Given the description of an element on the screen output the (x, y) to click on. 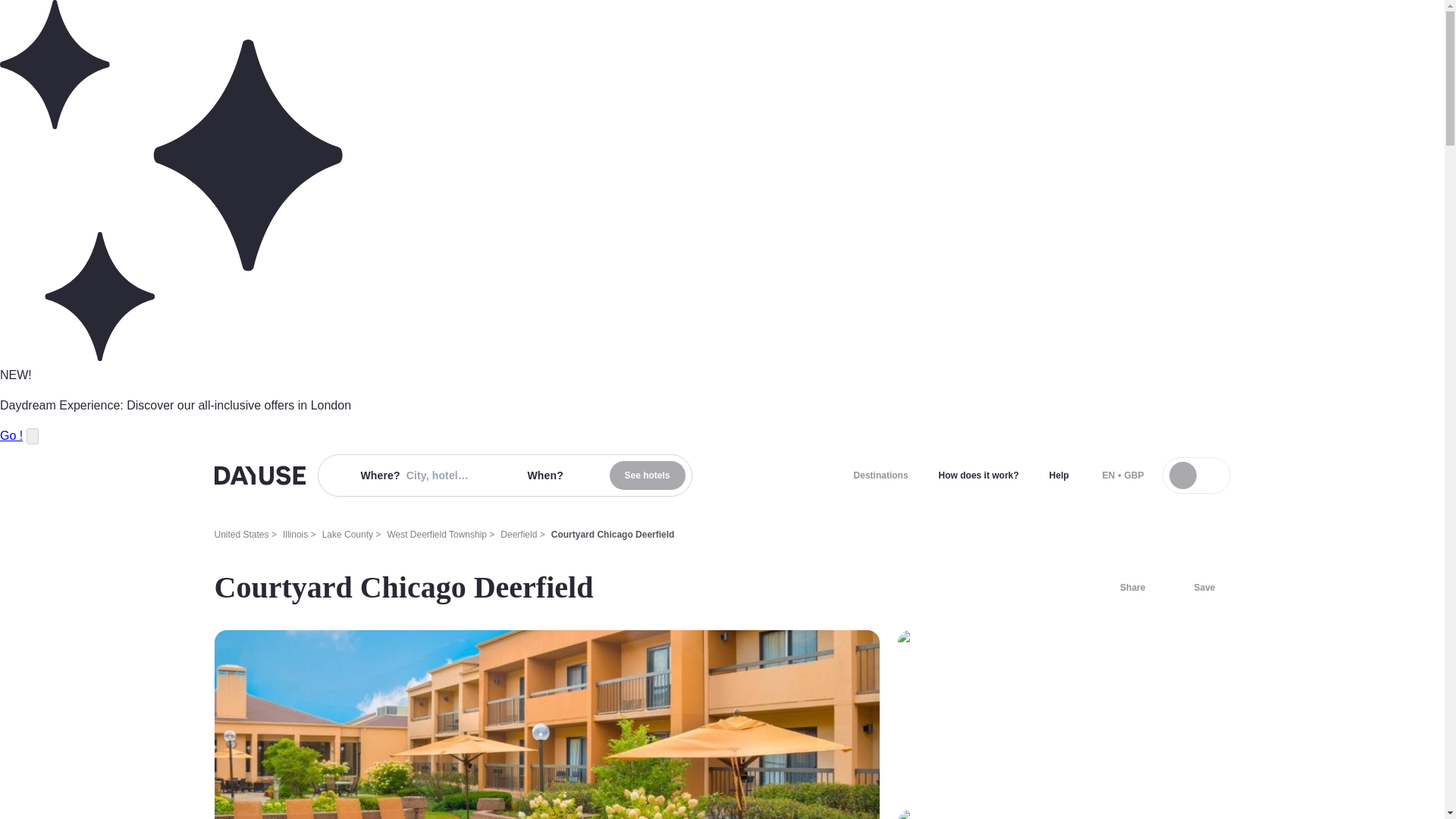
Dayuse (259, 475)
Destinations (880, 474)
Share (1123, 587)
Lake County (346, 534)
Save (1195, 587)
How does it work? (978, 474)
See hotels (647, 475)
Help (1058, 474)
Deerfield (518, 534)
Illinois (294, 534)
